Given the description of an element on the screen output the (x, y) to click on. 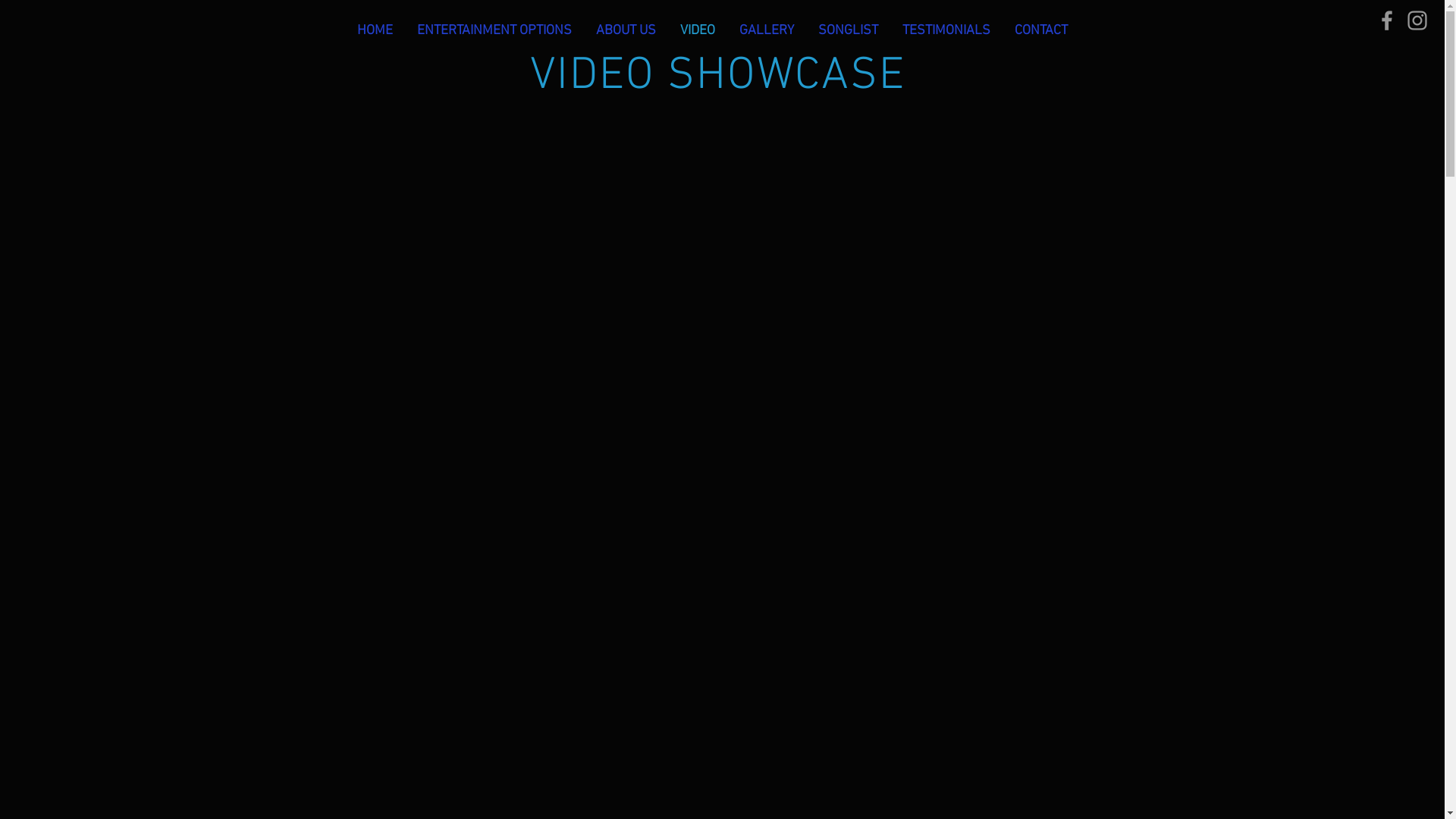
VIDEO Element type: text (696, 30)
SONGLIST Element type: text (847, 30)
GALLERY Element type: text (765, 30)
HOME Element type: text (374, 30)
ABOUT US Element type: text (625, 30)
ENTERTAINMENT OPTIONS Element type: text (493, 30)
TESTIMONIALS Element type: text (946, 30)
CONTACT Element type: text (1040, 30)
